Given the description of an element on the screen output the (x, y) to click on. 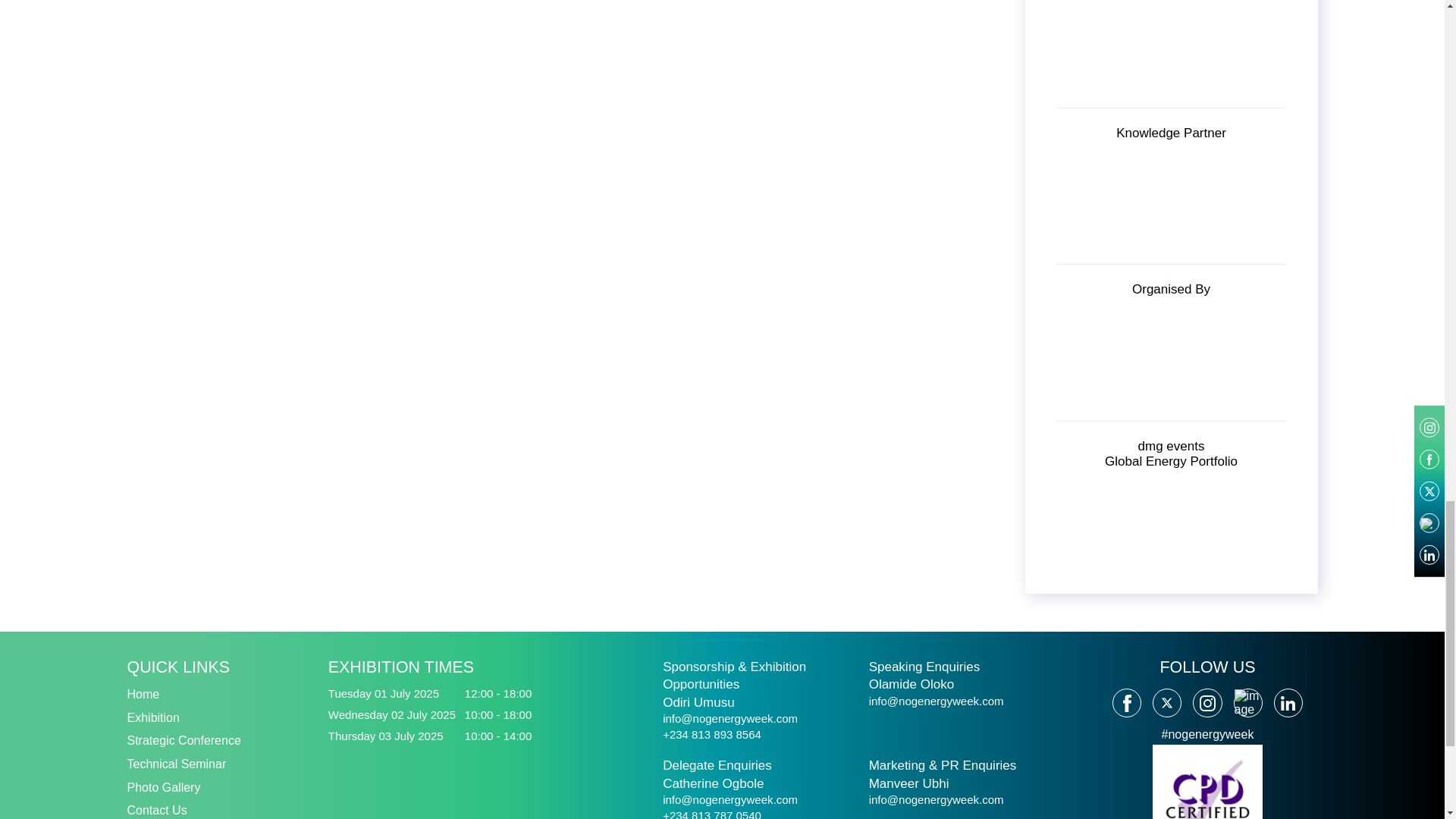
Photo Gallery (164, 787)
Contact (157, 809)
Exhibit at NOG (153, 717)
